Given the description of an element on the screen output the (x, y) to click on. 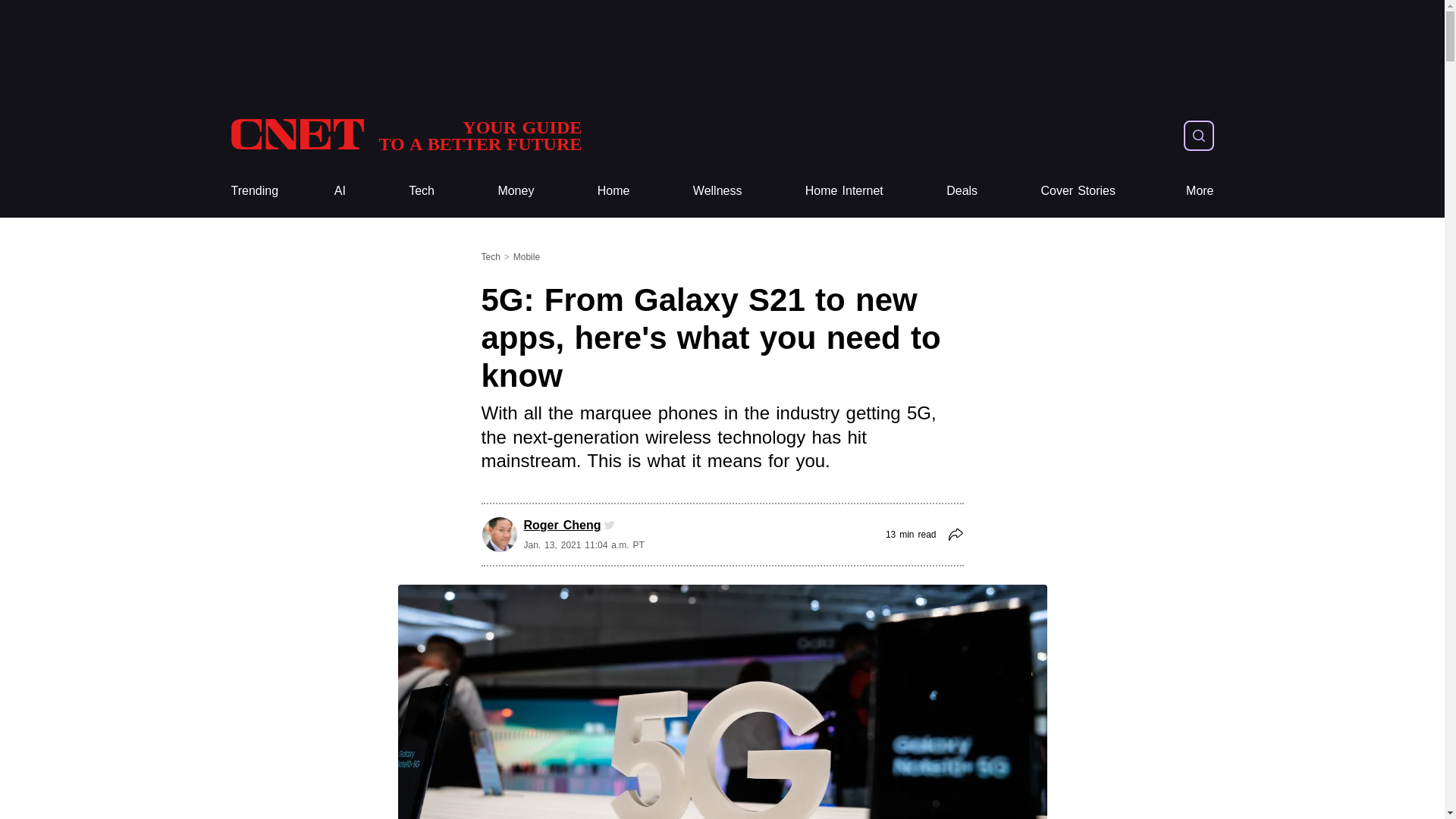
Deals (961, 190)
Money (515, 190)
CNET (405, 135)
Tech (421, 190)
Home (613, 190)
Cover Stories (1078, 190)
Home (613, 190)
Home Internet (405, 135)
Tech (844, 190)
Home Internet (421, 190)
Trending (844, 190)
Wellness (254, 190)
Wellness (717, 190)
More (717, 190)
